Given the description of an element on the screen output the (x, y) to click on. 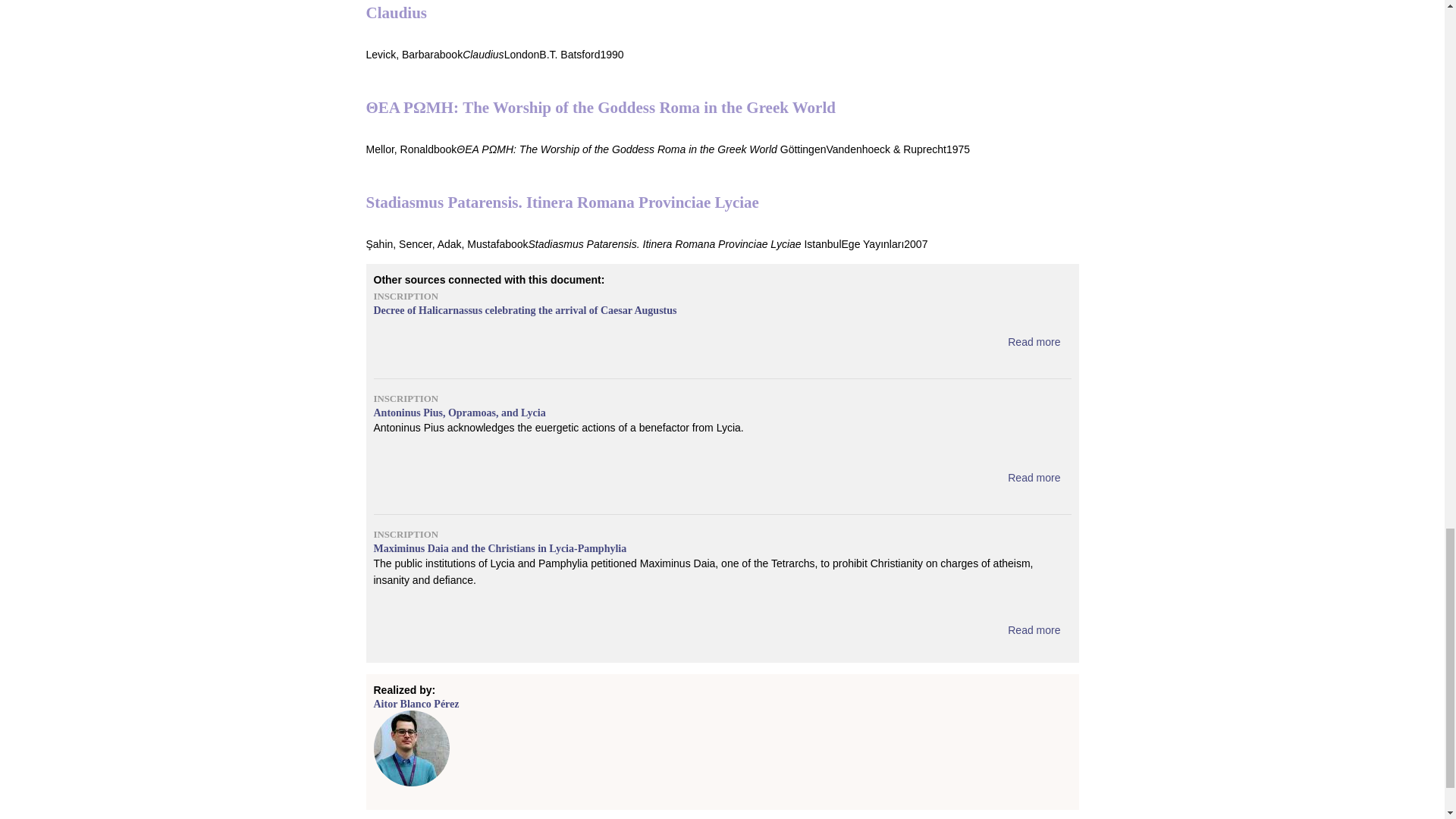
Maximinus Daia and the Christians in Lycia-Pamphylia (1033, 630)
Antoninus Pius, Opramoas, and Lycia (1033, 477)
